Given the description of an element on the screen output the (x, y) to click on. 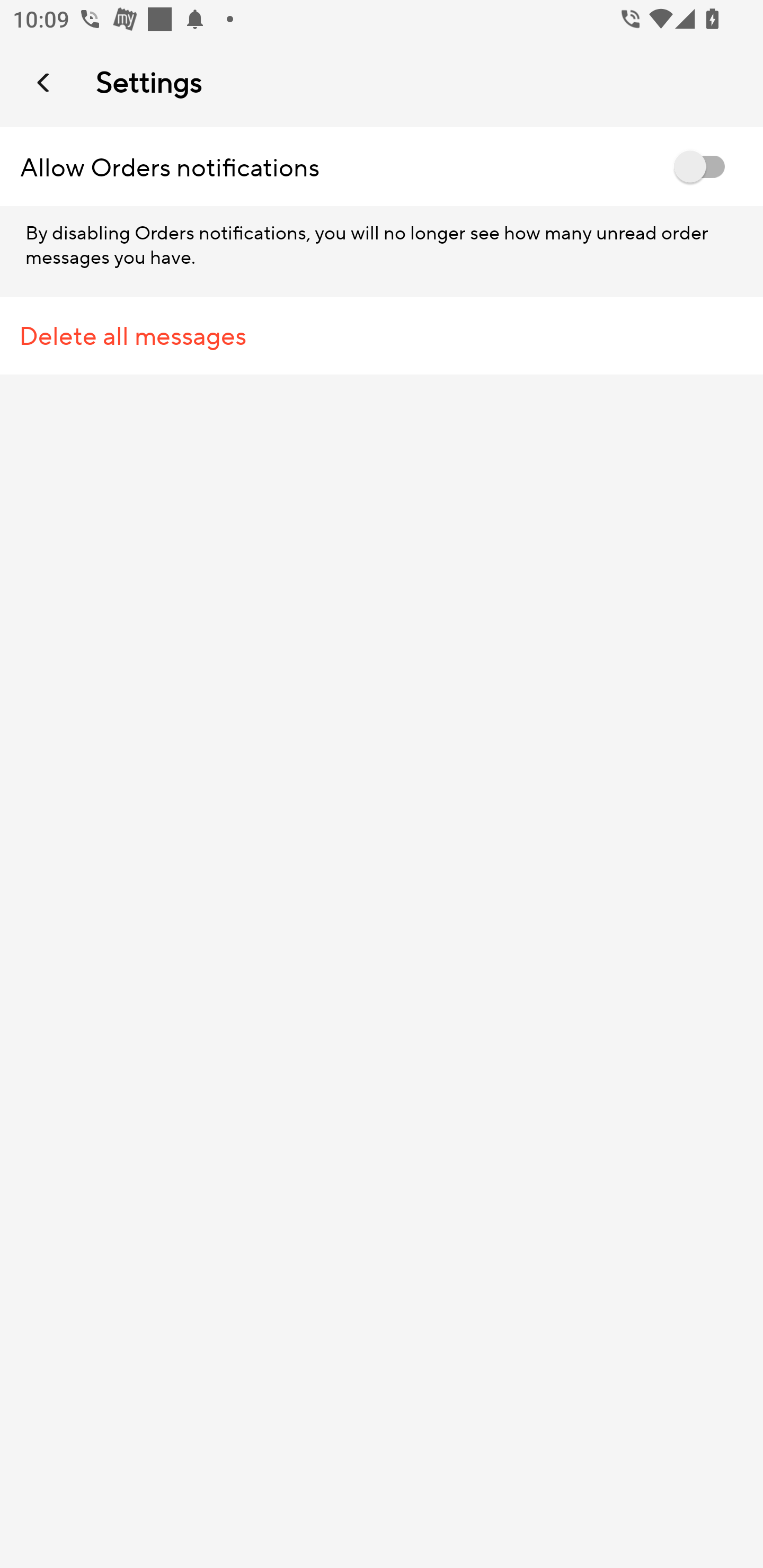
Navigate up (44, 82)
Delete all messages (381, 335)
